Given the description of an element on the screen output the (x, y) to click on. 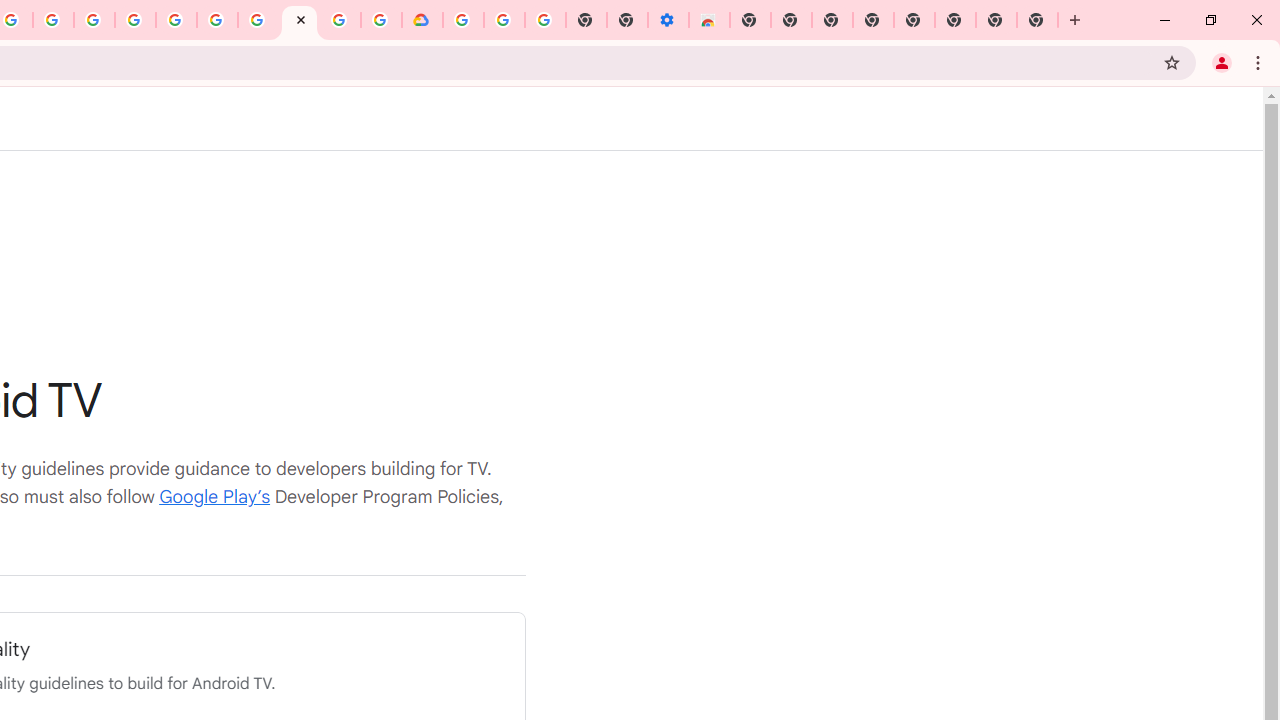
Create your Google Account (340, 20)
Browse the Google Chrome Community - Google Chrome Community (381, 20)
Create your Google Account (53, 20)
Google Account Help (503, 20)
Turn cookies on or off - Computer - Google Account Help (544, 20)
Sign in - Google Accounts (176, 20)
